Given the description of an element on the screen output the (x, y) to click on. 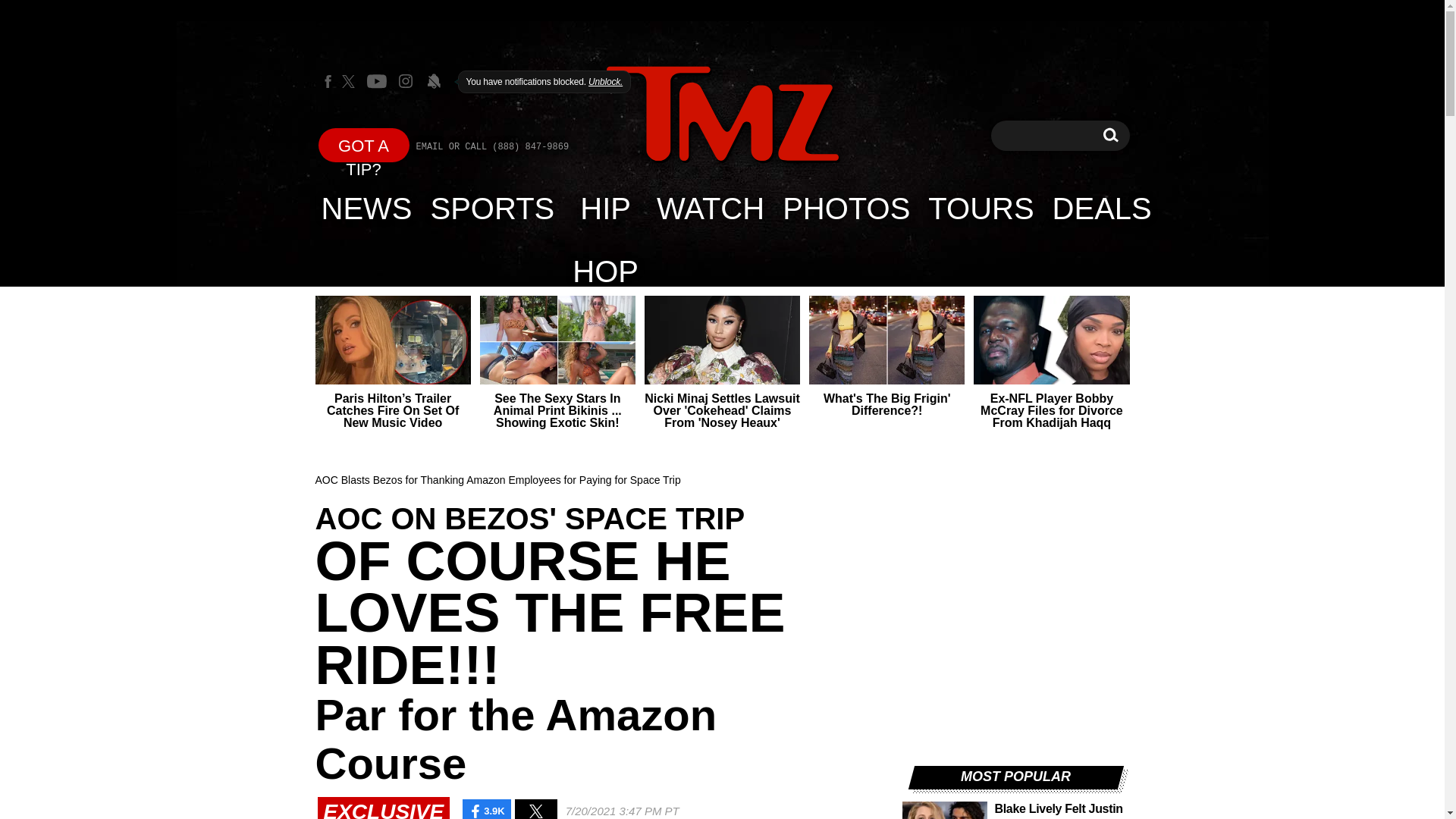
TMZ (722, 115)
TMZ (722, 113)
DEALS (1101, 207)
Search (1110, 134)
HIP HOP (1110, 135)
PHOTOS (605, 207)
NEWS (845, 207)
SPORTS (367, 207)
